Given the description of an element on the screen output the (x, y) to click on. 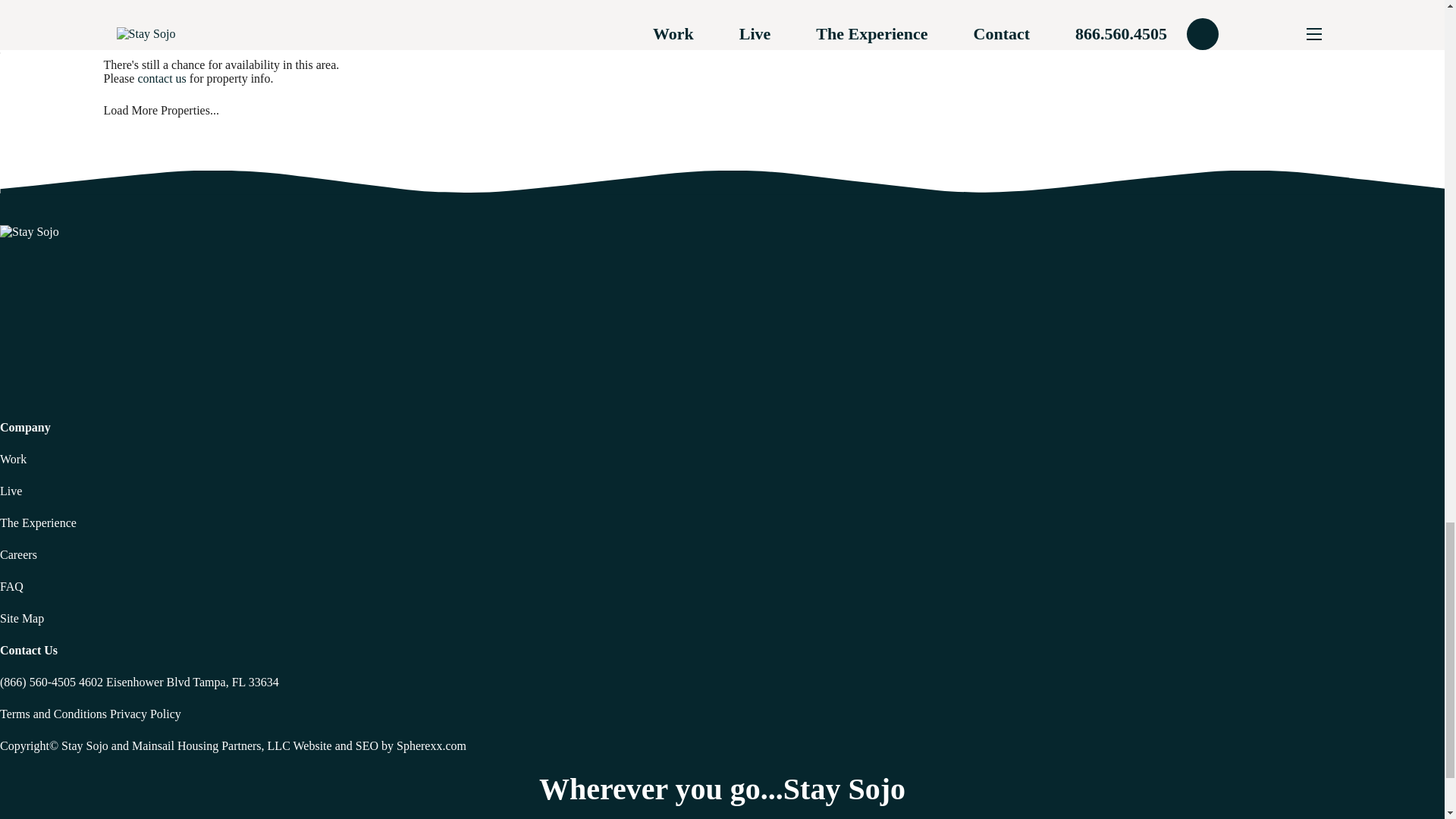
866.560.4505 (172, 3)
contact us (161, 78)
Load More Properties... (160, 110)
Visit us on YouTube (11, 268)
